Given the description of an element on the screen output the (x, y) to click on. 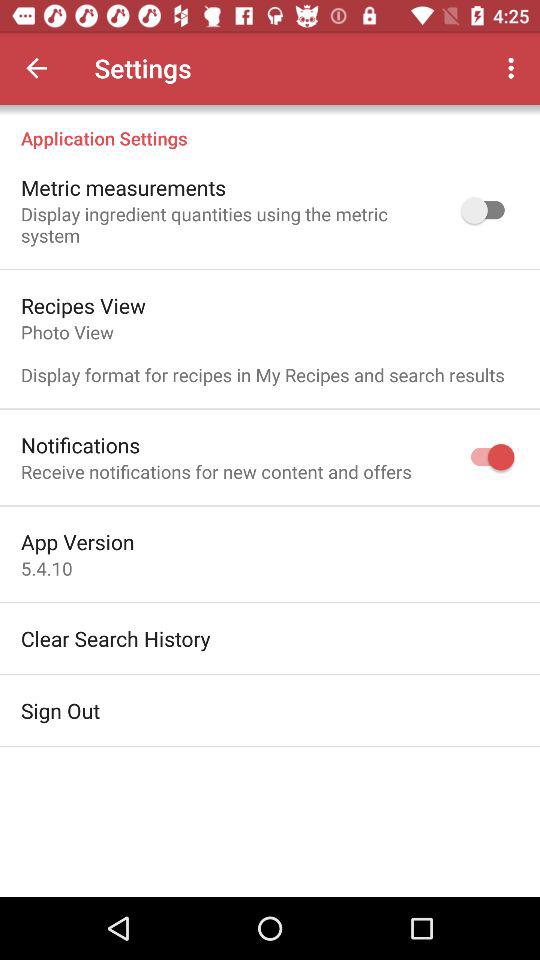
launch display ingredient quantities (228, 224)
